Given the description of an element on the screen output the (x, y) to click on. 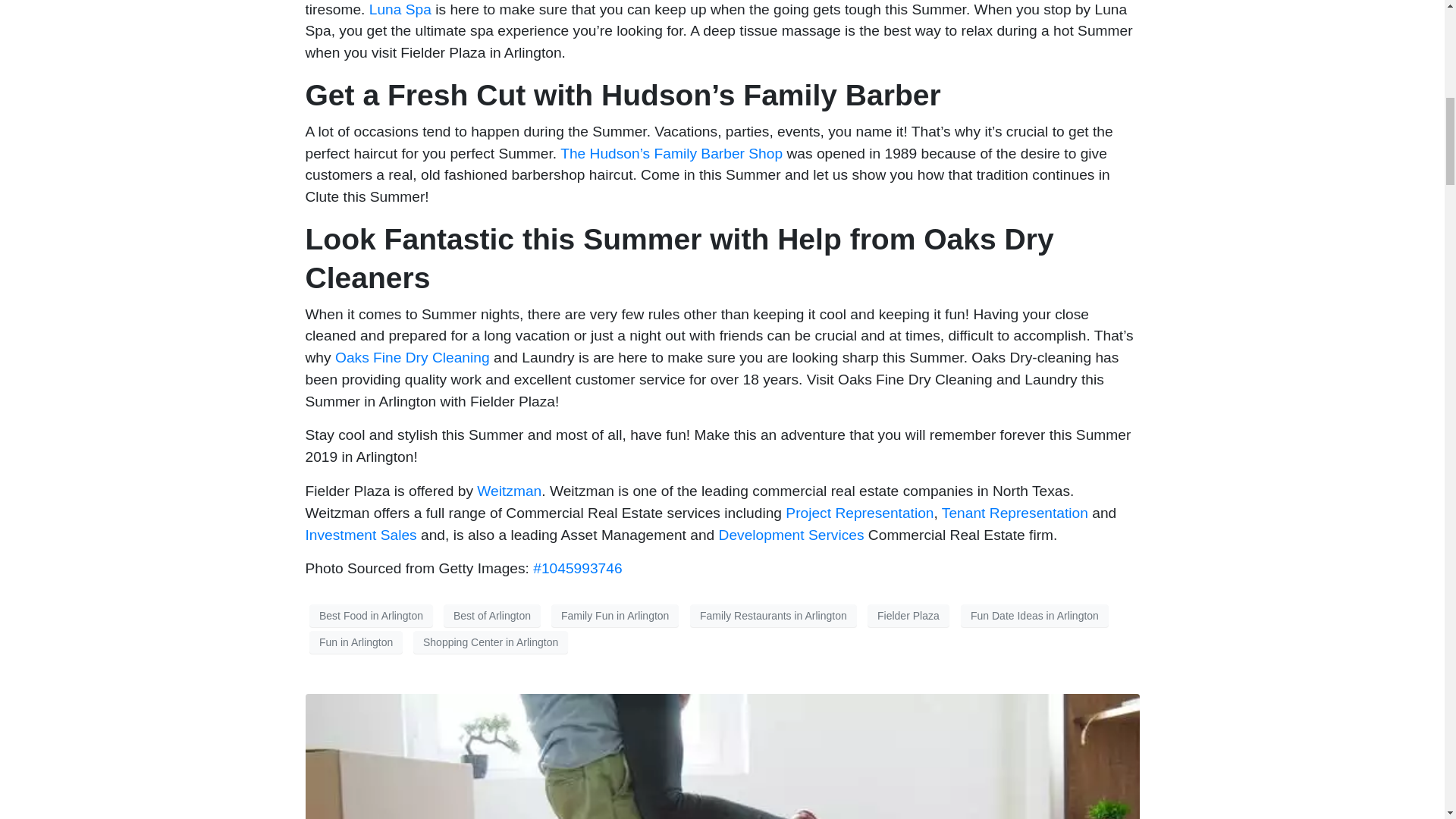
Family Fun in Arlington (614, 615)
Fielder Plaza (908, 615)
Best of Arlington (492, 615)
Fun Date Ideas in Arlington (1034, 615)
Project Representation (859, 512)
Shopping Center in Arlington (490, 641)
Investment Sales (362, 534)
Weitzman (509, 490)
Oaks Fine Dry Cleaning (411, 357)
Luna Spa (399, 9)
Tenant Representation (1014, 512)
Best Food in Arlington (370, 615)
Development Services (791, 534)
Fun in Arlington (355, 641)
Family Restaurants in Arlington (773, 615)
